Given the description of an element on the screen output the (x, y) to click on. 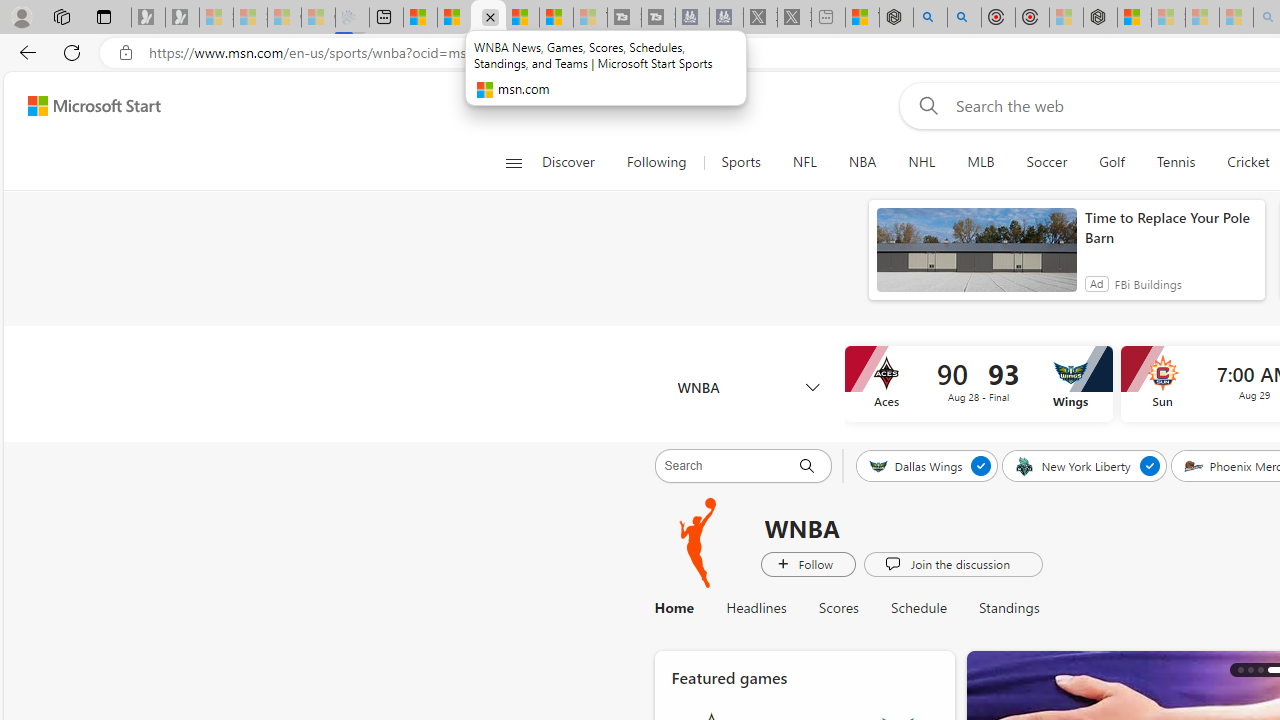
anim-content (975, 258)
Skip to content (86, 105)
Aces 90 vs Wings 93Final Date Aug 28 (978, 383)
Unfollow New York Liberty (1149, 465)
Class: button-glyph (513, 162)
NFL (804, 162)
Home (682, 607)
FBi Buildings (1147, 283)
MLB (981, 162)
